Given the description of an element on the screen output the (x, y) to click on. 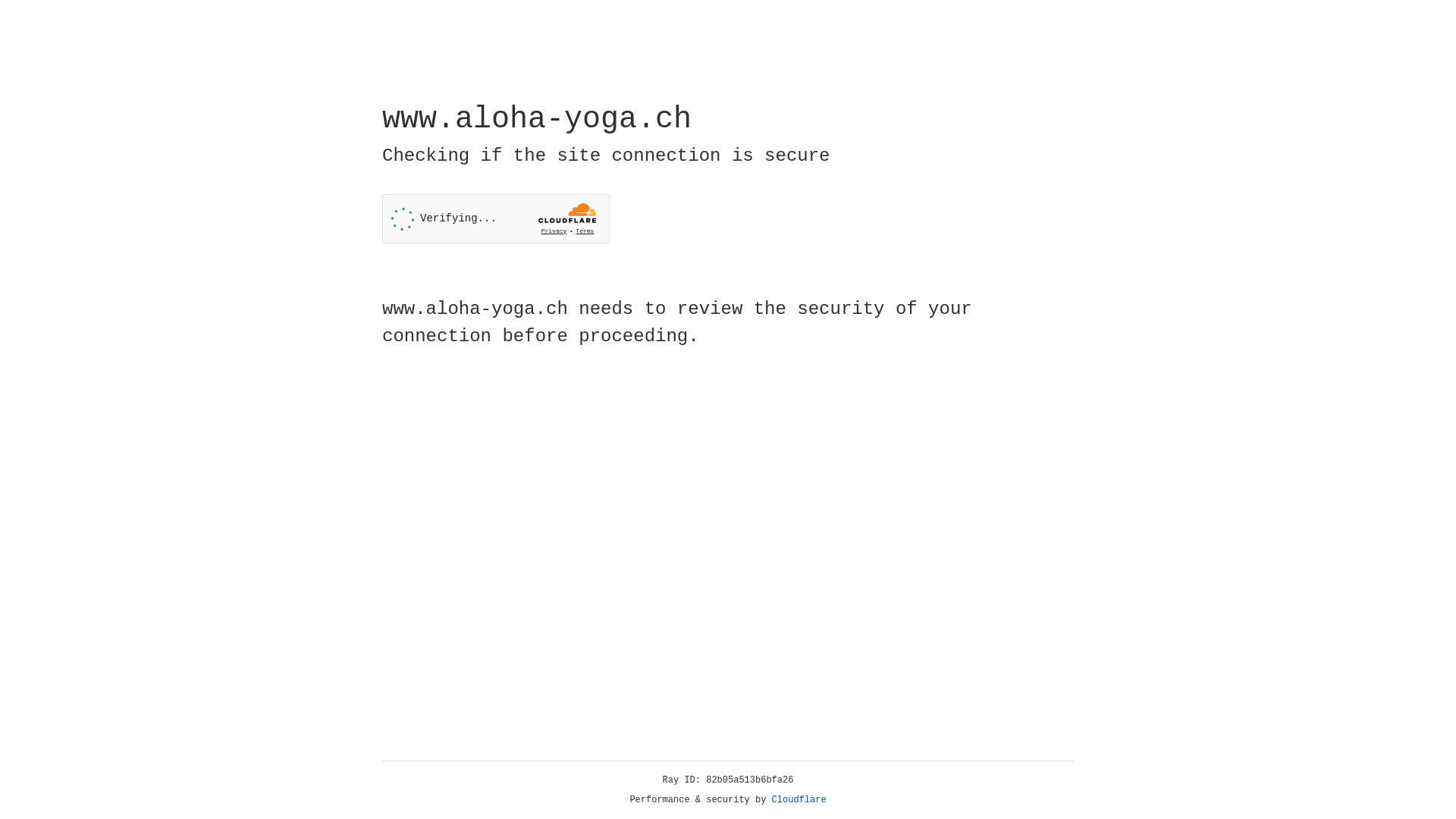
Cloudflare Element type: text (798, 799)
Widget containing a Cloudflare security challenge Element type: hover (495, 218)
